Given the description of an element on the screen output the (x, y) to click on. 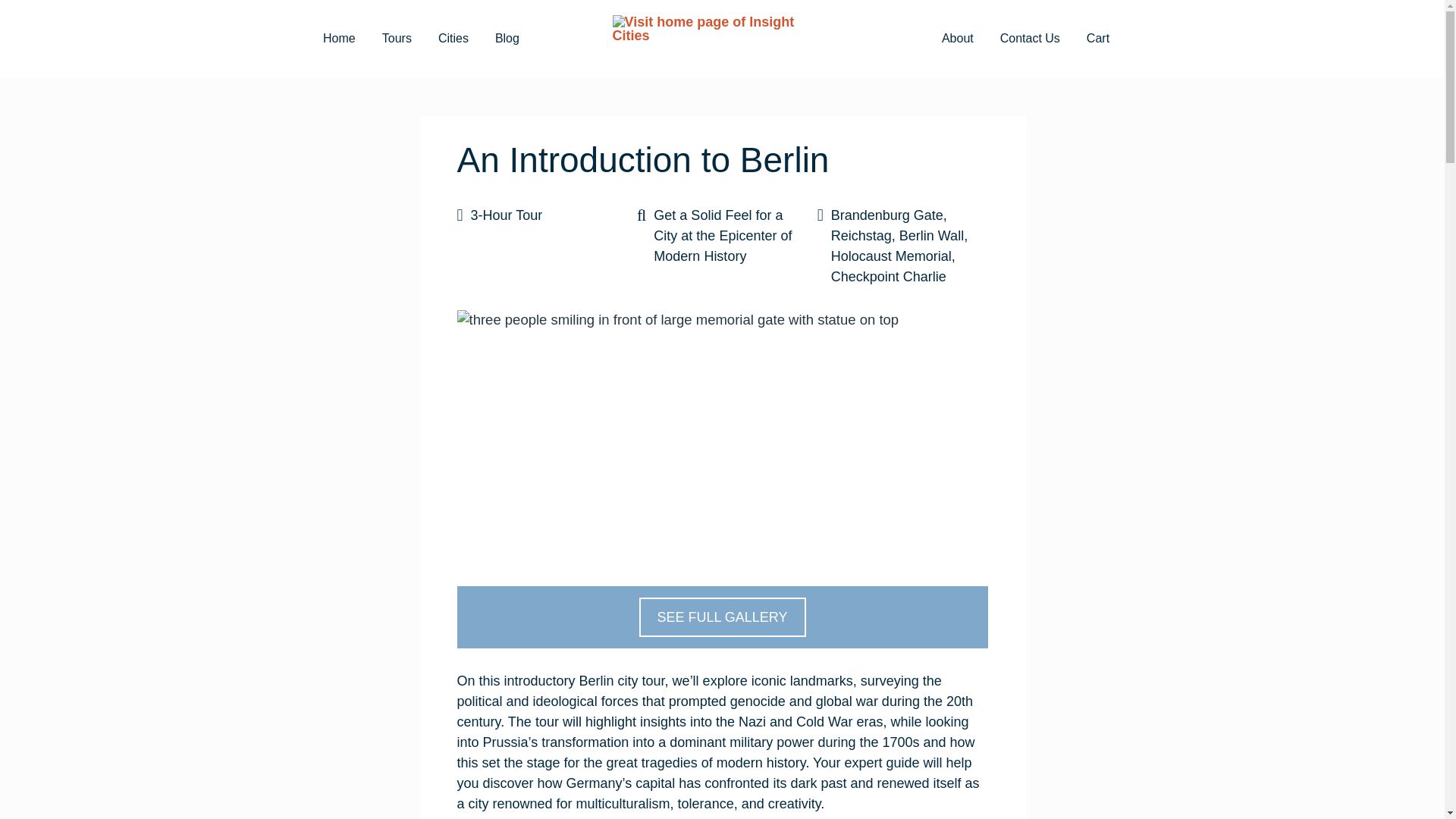
About (957, 39)
Cart (1097, 39)
Home (339, 39)
Visit Home page (722, 39)
Cities (453, 39)
Contact Us (1029, 39)
Tours (396, 39)
Blog (507, 39)
